Given the description of an element on the screen output the (x, y) to click on. 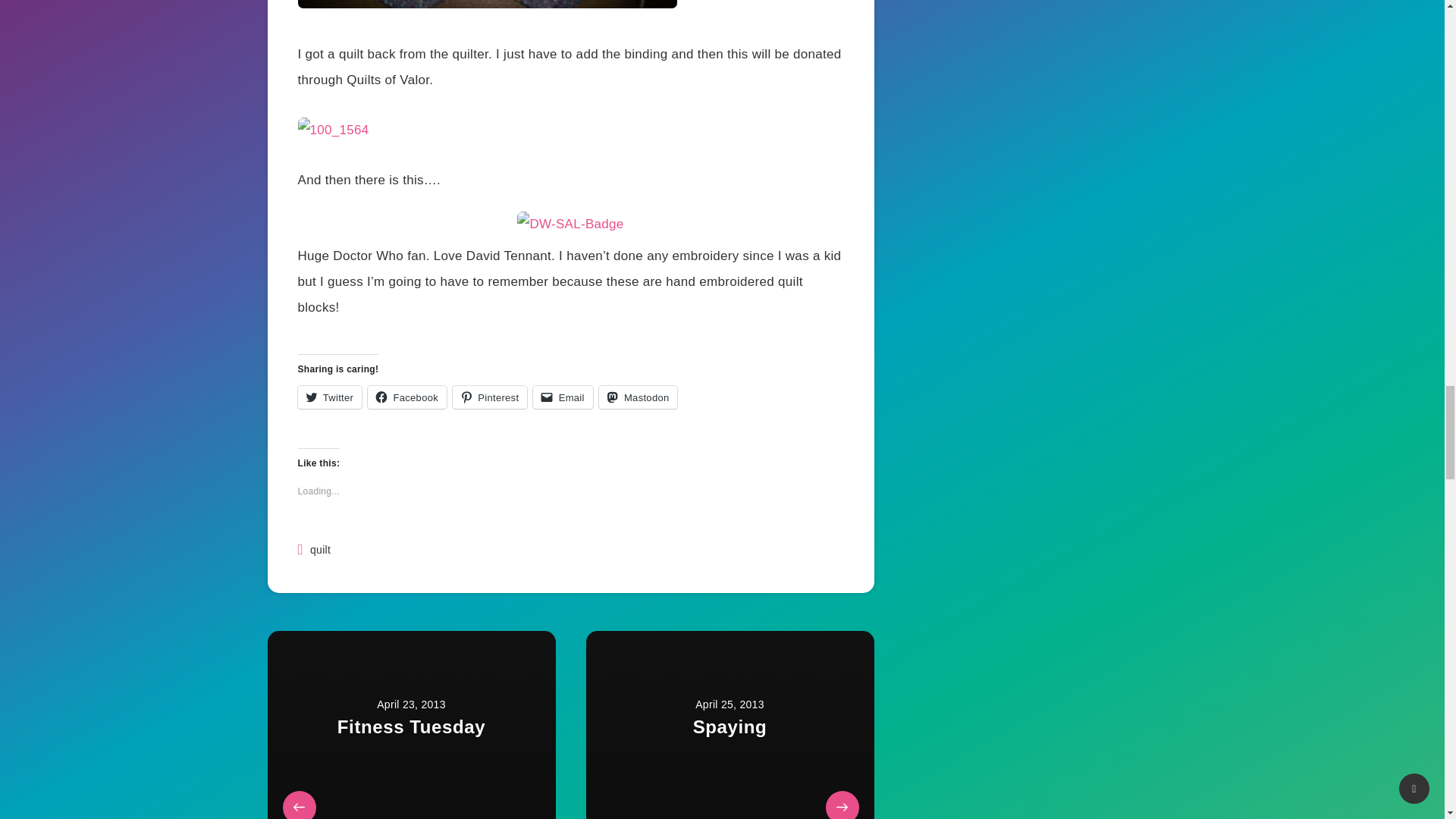
Click to share on Pinterest (489, 396)
Email (562, 396)
Facebook (407, 396)
Twitter (329, 396)
Mastodon (638, 396)
Click to share on Mastodon (638, 396)
Click to share on Twitter (329, 396)
Pinterest (489, 396)
quilt (320, 549)
Click to share on Facebook (407, 396)
Click to email a link to a friend (562, 396)
